Given the description of an element on the screen output the (x, y) to click on. 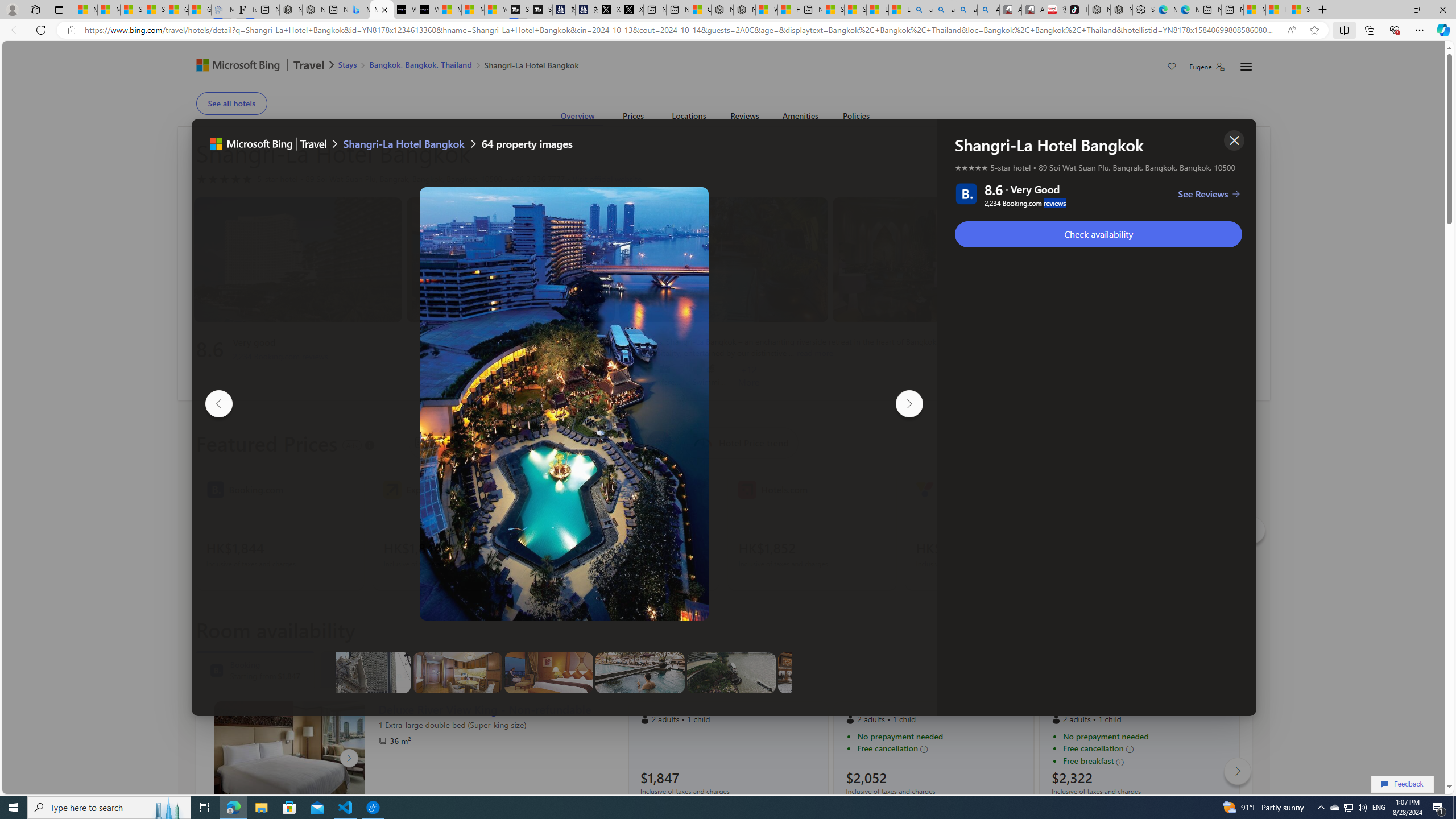
amazon - Search Images (966, 9)
Amazon Echo Robot - Search Images (988, 9)
Nordace - Best Sellers (1099, 9)
Microsoft Bing Travel - Shangri-La Hotel Bangkok (381, 9)
Nordace Siena Pro 15 Backpack (1121, 9)
